Given the description of an element on the screen output the (x, y) to click on. 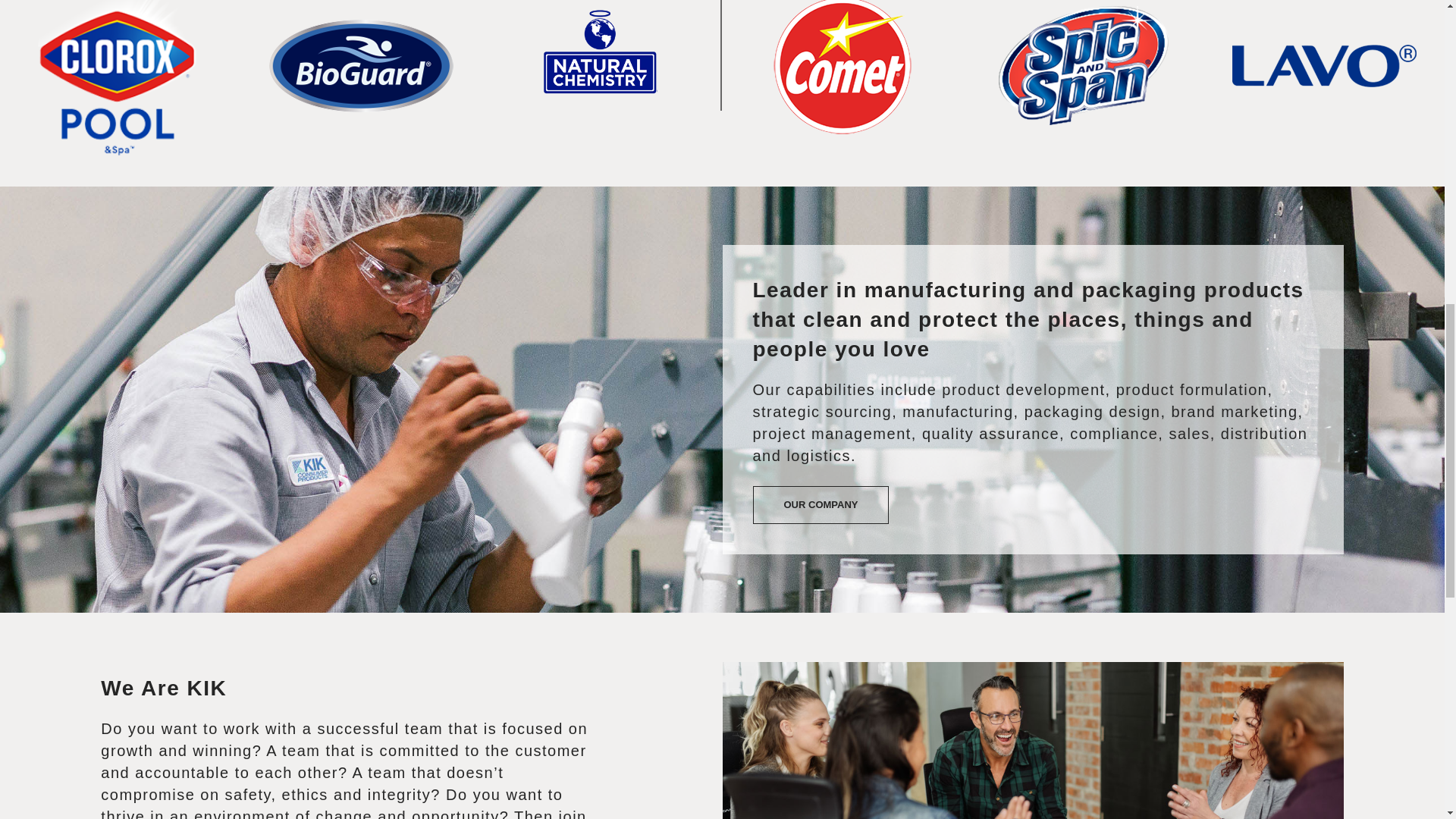
spicspan-v3 (1082, 69)
OUR COMPANY (820, 505)
